Given the description of an element on the screen output the (x, y) to click on. 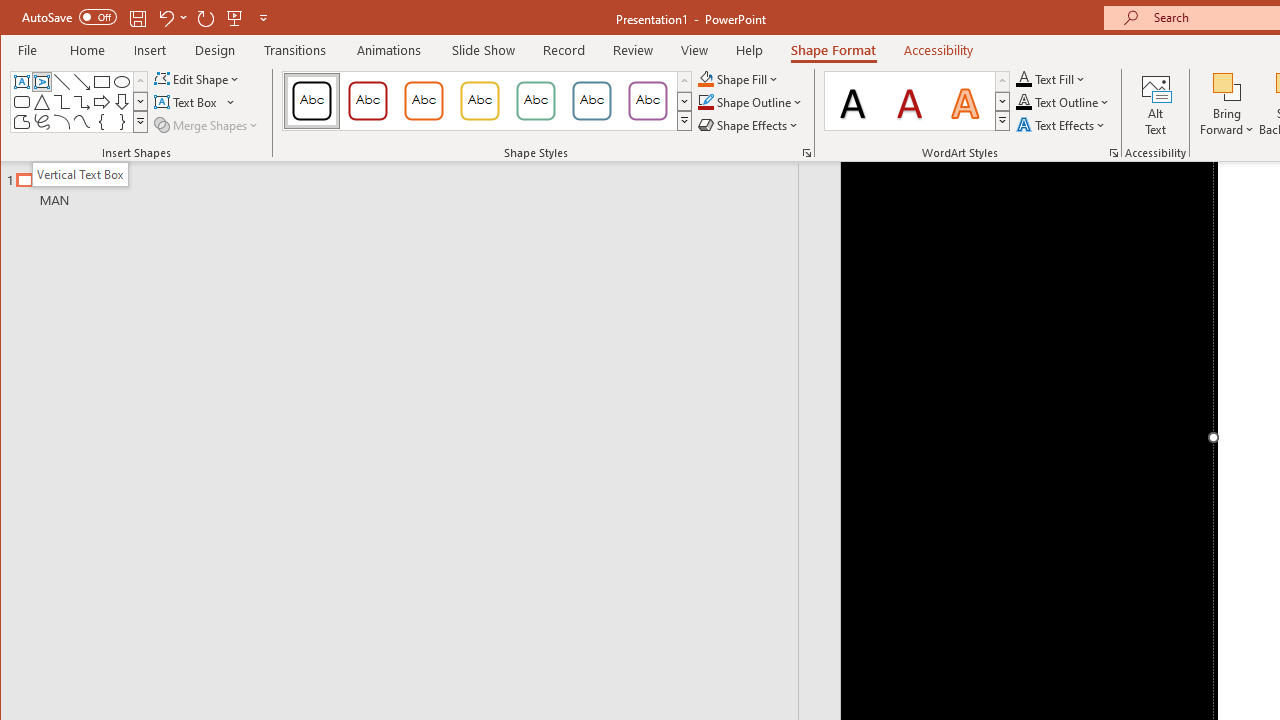
Text Fill RGB(0, 0, 0) (1023, 78)
AutomationID: ShapeStylesGallery (488, 101)
Bring Forward (1227, 104)
Merge Shapes (207, 124)
Fill: Dark Red, Accent color 1; Shadow (909, 100)
